Given the description of an element on the screen output the (x, y) to click on. 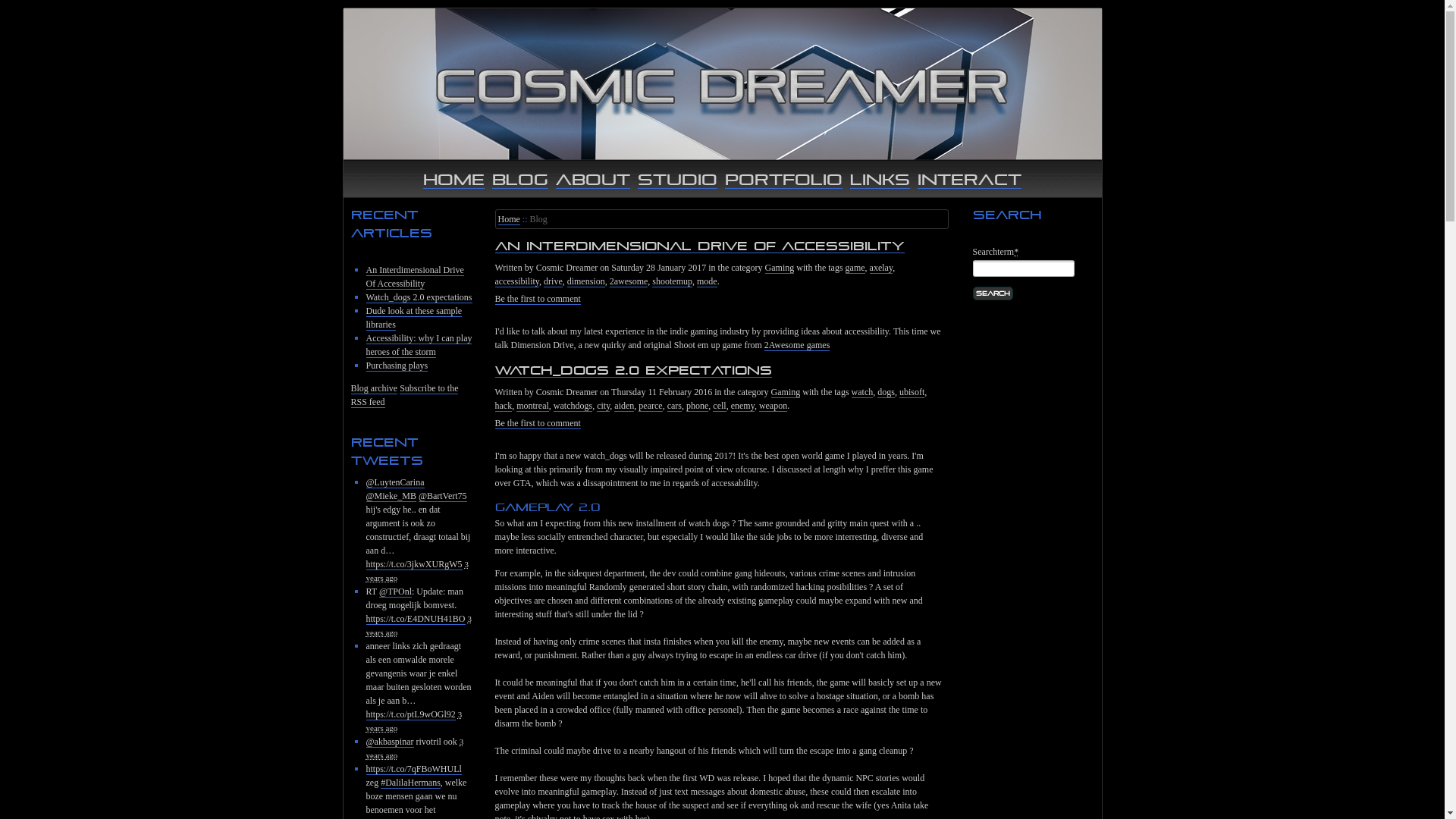
An Interdimensional Drive Of Accessibility Element type: text (698, 245)
Home Element type: text (508, 219)
montreal Element type: text (532, 405)
https://t.co/E4DNUH41BO Element type: text (414, 618)
Studio Element type: text (677, 178)
accessibility Element type: text (516, 281)
Blog Element type: text (520, 178)
drive Element type: text (552, 281)
Gaming Element type: text (785, 392)
An Interdimensional Drive Of Accessibility Element type: text (414, 276)
weapon Element type: text (773, 405)
@BartVert75 Element type: text (442, 496)
cell Element type: text (718, 405)
Subscribe to the RSS feed Element type: text (404, 394)
@TPOnl Element type: text (395, 591)
@Mieke_MB Element type: text (390, 496)
https://t.co/3jkwXURgW5 Element type: text (413, 564)
watch Element type: text (862, 392)
phone Element type: text (697, 405)
Watch_dogs 2.0 expectations Element type: text (632, 369)
ubisoft Element type: text (911, 392)
Watch_dogs 2.0 expectations Element type: text (418, 297)
Interact Element type: text (969, 178)
game Element type: text (855, 267)
Blog archive Element type: text (373, 388)
Links Element type: text (880, 178)
@LuytenCarina Element type: text (394, 482)
city Element type: text (602, 405)
Gaming Element type: text (779, 267)
2awesome Element type: text (628, 281)
@akbaspinar Element type: text (389, 741)
enemy Element type: text (742, 405)
mode Element type: text (706, 281)
shootemup Element type: text (672, 281)
https://t.co/ptL9wOGl92 Element type: text (410, 714)
Home Element type: text (453, 178)
axelay Element type: text (881, 267)
Portfolio Element type: text (783, 178)
2Awesome games Element type: text (797, 345)
cars Element type: text (674, 405)
dimension Element type: text (586, 281)
https://t.co/7qFBoWHULl Element type: text (413, 769)
Dude look at these sample libraries Element type: text (413, 317)
About Element type: text (592, 178)
dogs Element type: text (885, 392)
Accessibility: why I can play heroes of the storm Element type: text (418, 344)
Purchasing plays Element type: text (396, 365)
watchdogs Element type: text (572, 405)
Search Element type: text (992, 293)
Be the first to comment Element type: text (537, 298)
hack Element type: text (502, 405)
aiden Element type: text (623, 405)
pearce Element type: text (650, 405)
#DalilaHermans Element type: text (410, 782)
Be the first to comment Element type: text (537, 423)
